Given the description of an element on the screen output the (x, y) to click on. 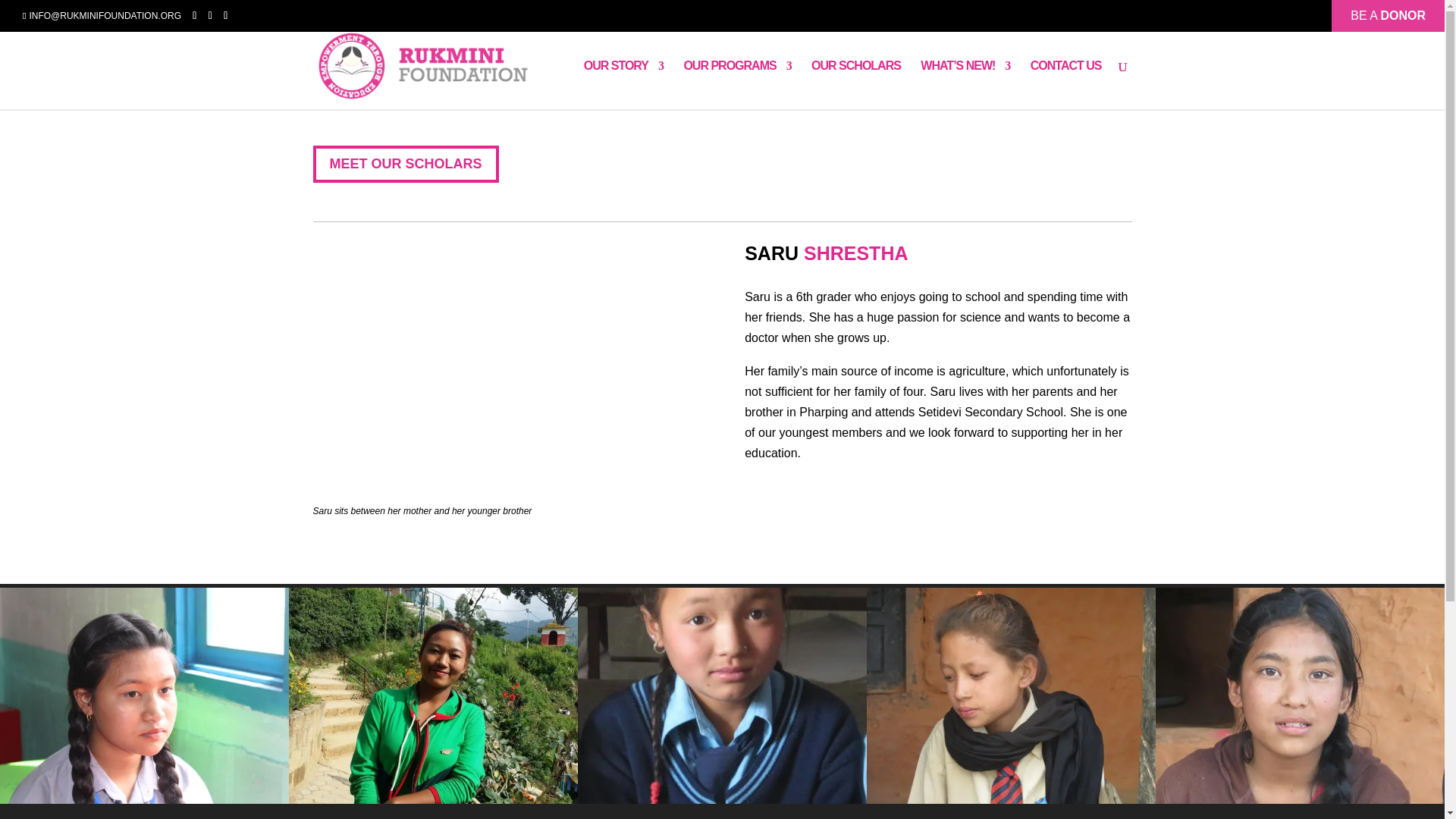
OUR STORY (623, 84)
OUR PROGRAMS (736, 84)
BE A DONOR (1388, 10)
OUR SCHOLARS (855, 84)
CONTACT US (1066, 84)
